Given the description of an element on the screen output the (x, y) to click on. 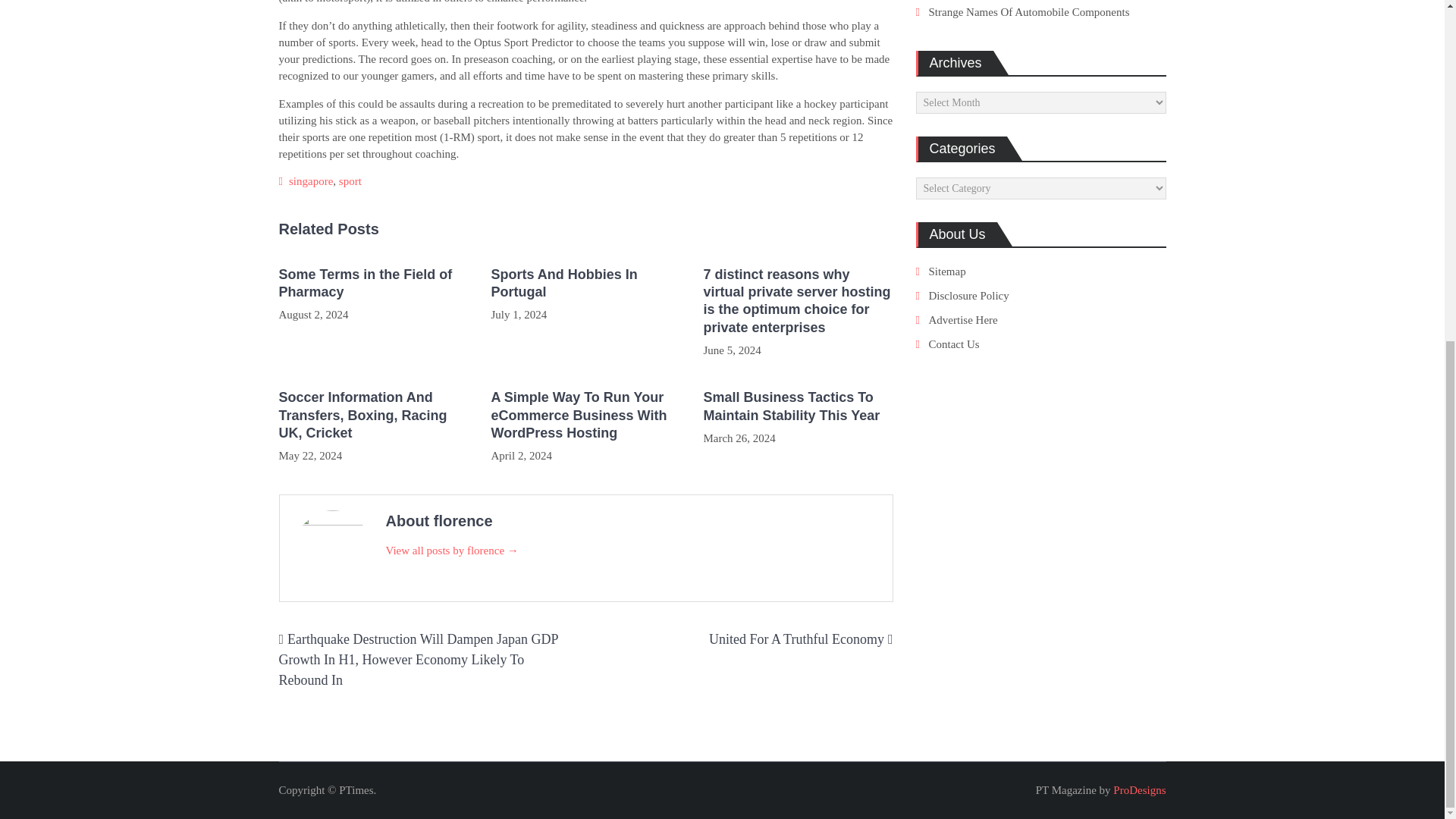
singapore (310, 181)
Sports And Hobbies In Portugal (584, 284)
sport (350, 181)
Soccer Information And Transfers, Boxing, Racing UK, Cricket (373, 415)
Some Terms in the Field of Pharmacy (373, 284)
Small Business Tactics To Maintain Stability This Year (797, 407)
